Given the description of an element on the screen output the (x, y) to click on. 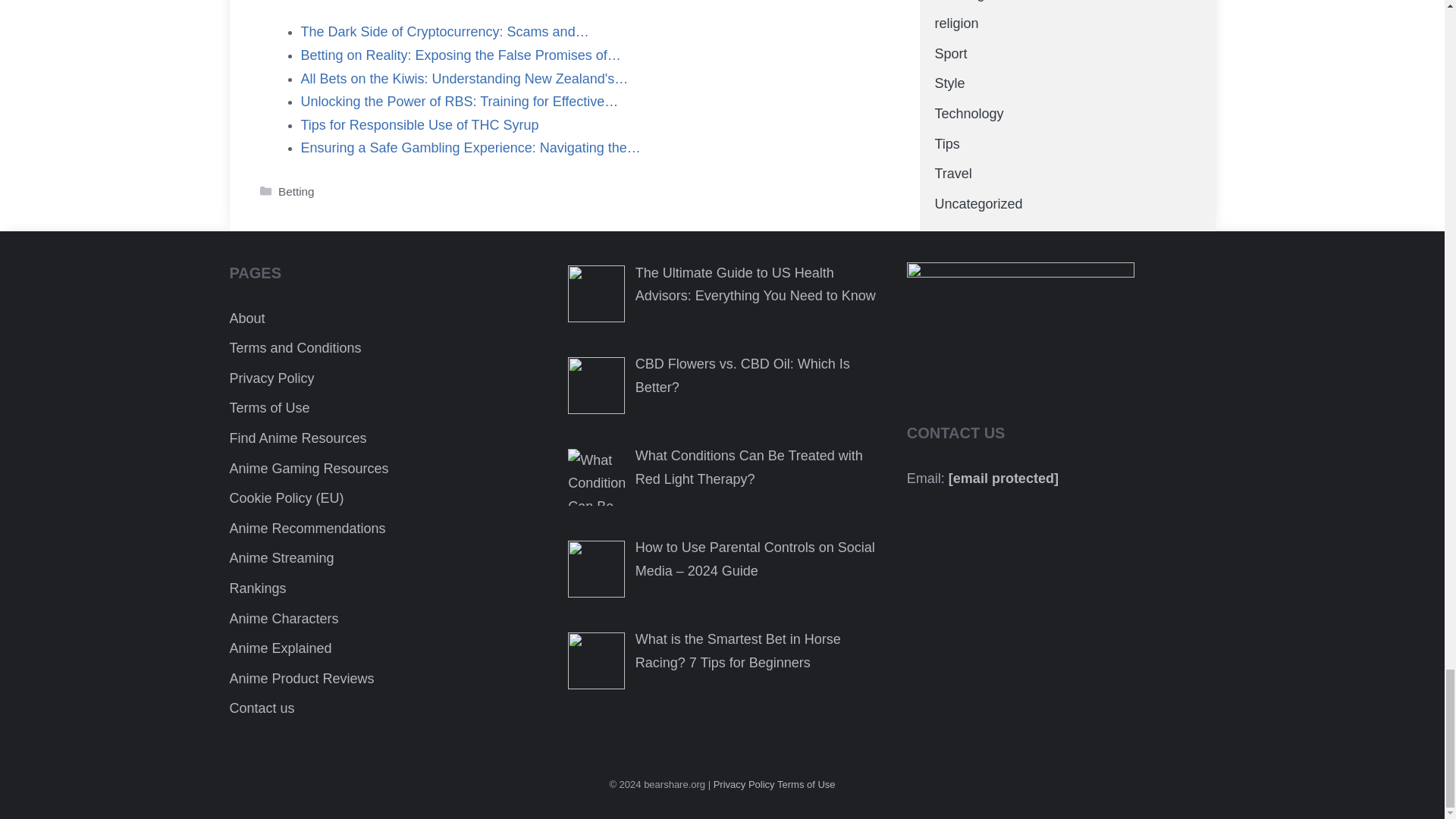
Tips for Responsible Use of THC Syrup (418, 124)
Betting (296, 191)
